Given the description of an element on the screen output the (x, y) to click on. 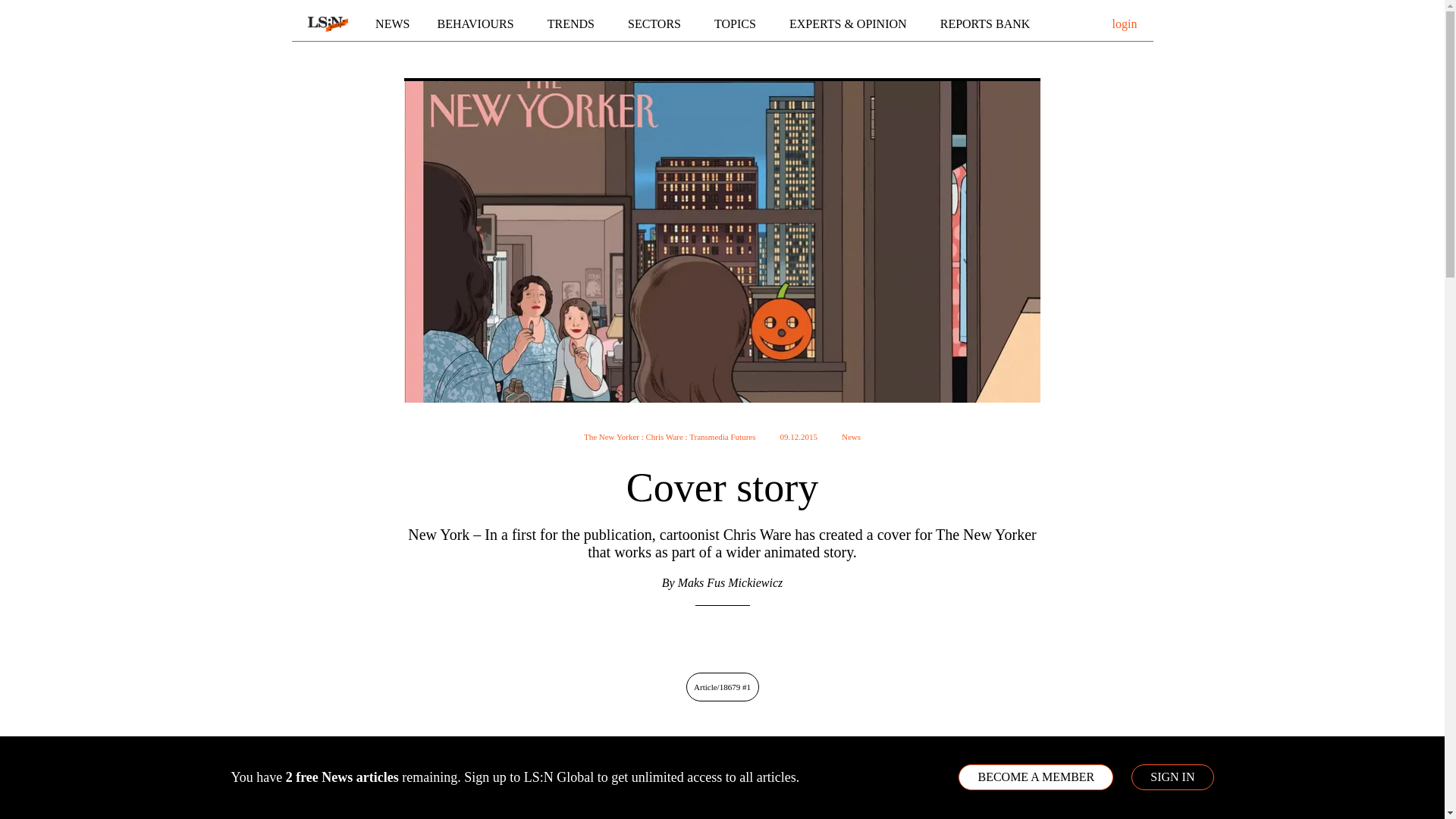
TRENDS (573, 24)
Behaviours (478, 24)
NEWS (392, 24)
BEHAVIOURS (478, 24)
News (392, 24)
Trends (573, 24)
LS:N Global (327, 24)
